Given the description of an element on the screen output the (x, y) to click on. 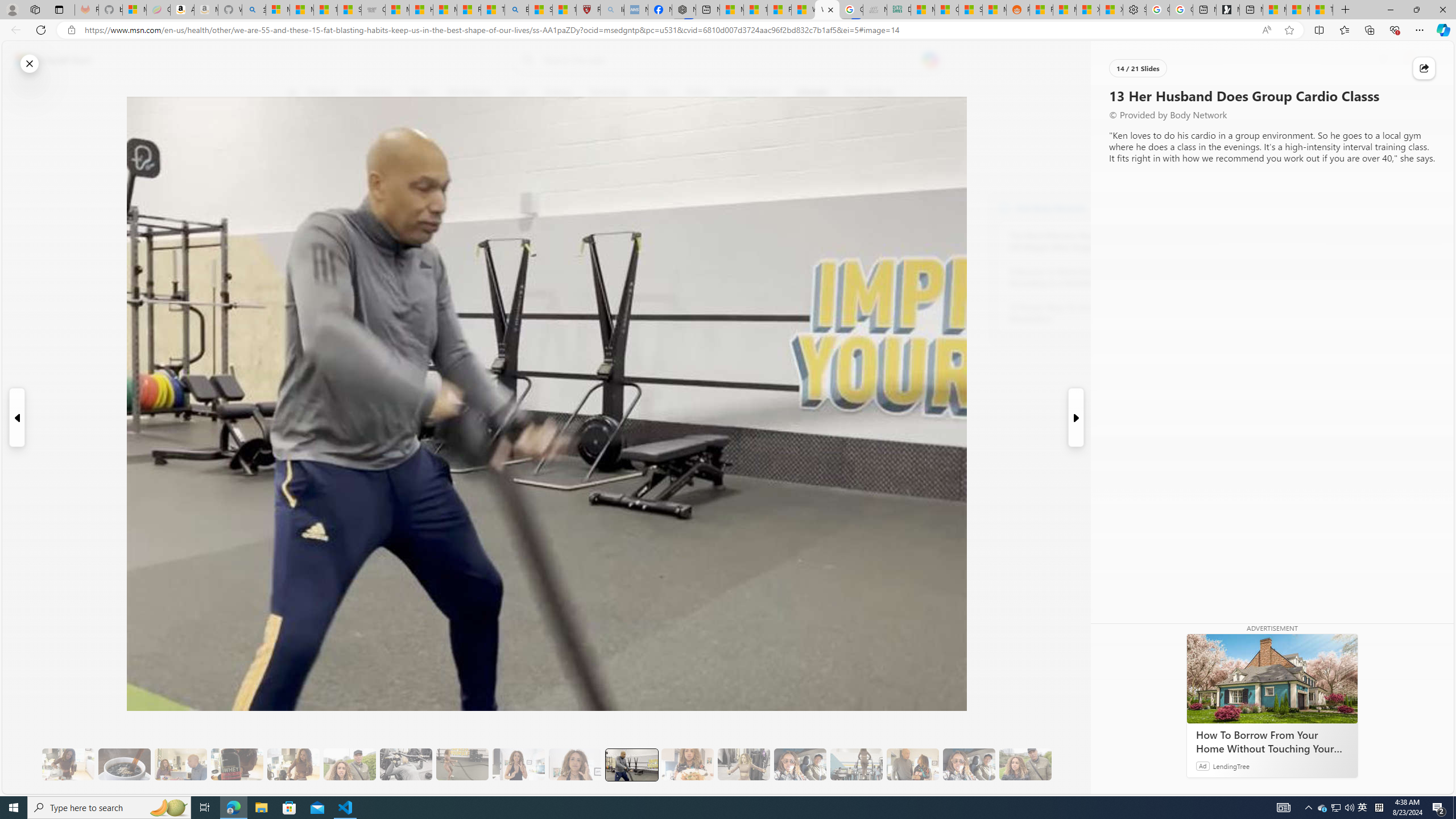
18 It's More Fun Doing It with Someone Else (912, 764)
11 They Eat More Protein for Breakfast (518, 764)
Combat Siege (373, 9)
3 They Drink Lemon Tea (68, 764)
19 It Also Simplifies Thiings (968, 764)
Bing (515, 9)
13 Her Husband Does Group Cardio Classs (631, 764)
